Given the description of an element on the screen output the (x, y) to click on. 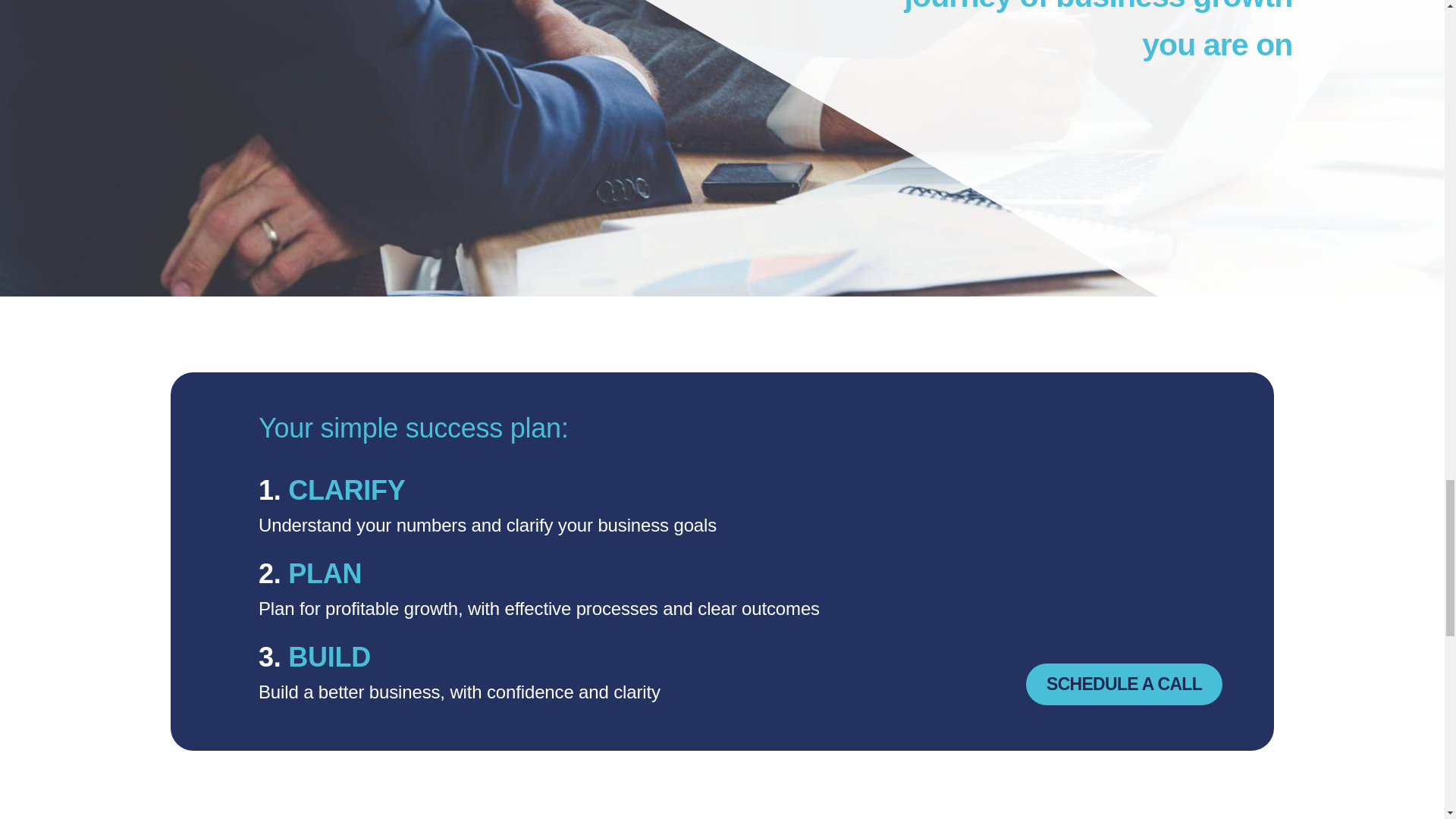
Schedule a Call (1124, 683)
SCHEDULE A CALL (1124, 683)
